Given the description of an element on the screen output the (x, y) to click on. 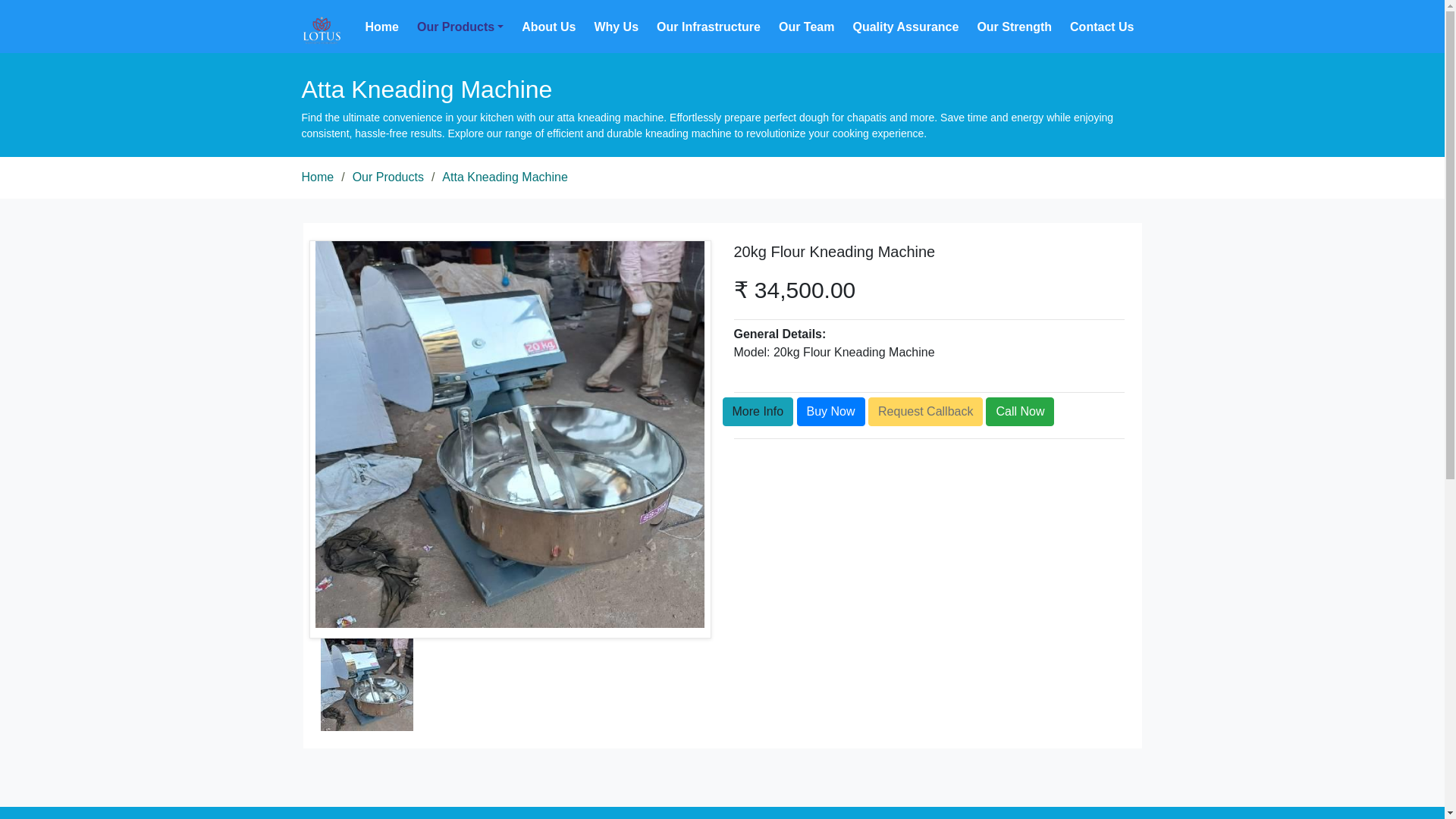
Our Products (459, 27)
20kg Flour Kneading Machine (830, 411)
Home (381, 27)
About Us (548, 27)
